Given the description of an element on the screen output the (x, y) to click on. 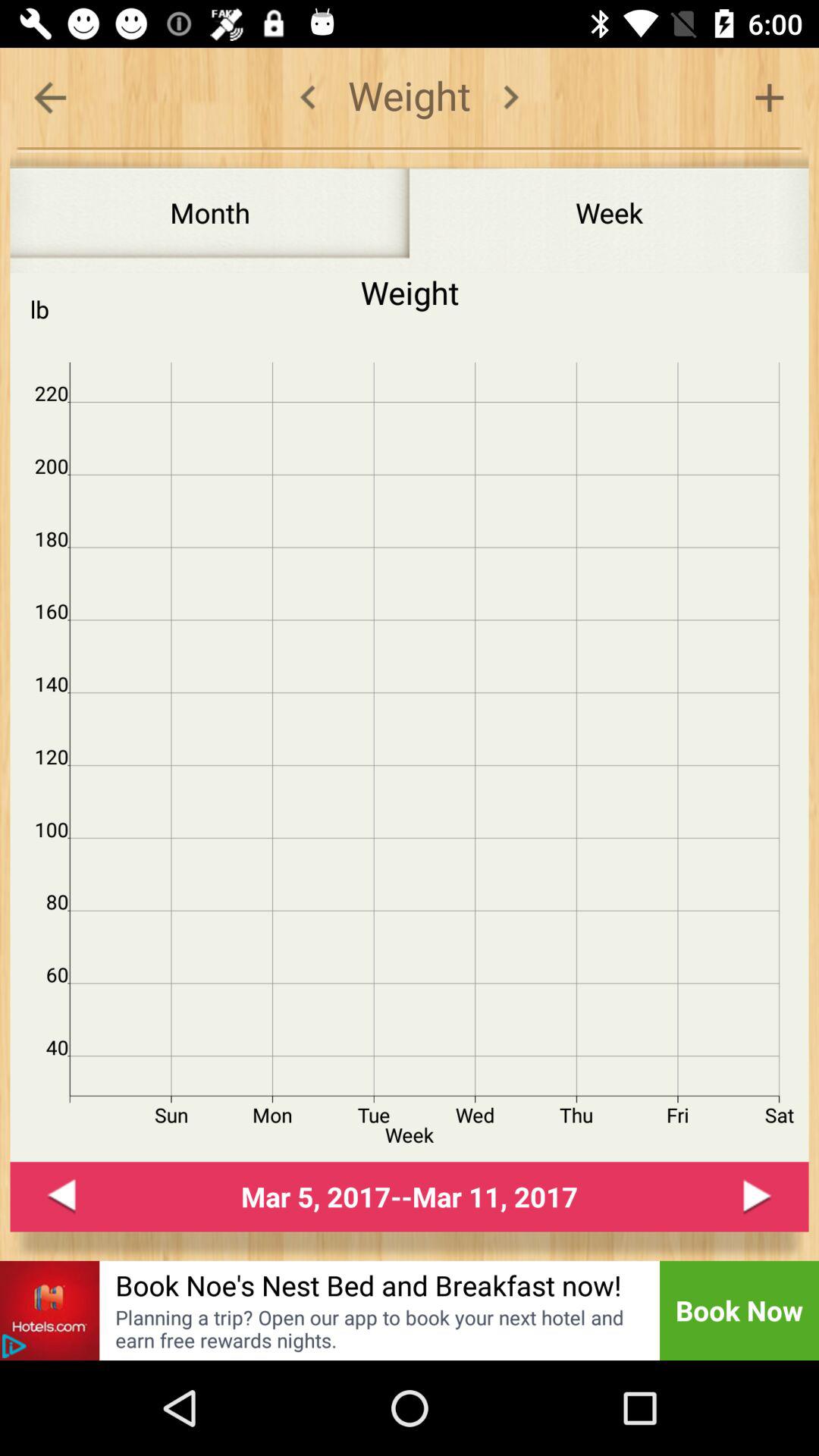
go to next (757, 1196)
